Given the description of an element on the screen output the (x, y) to click on. 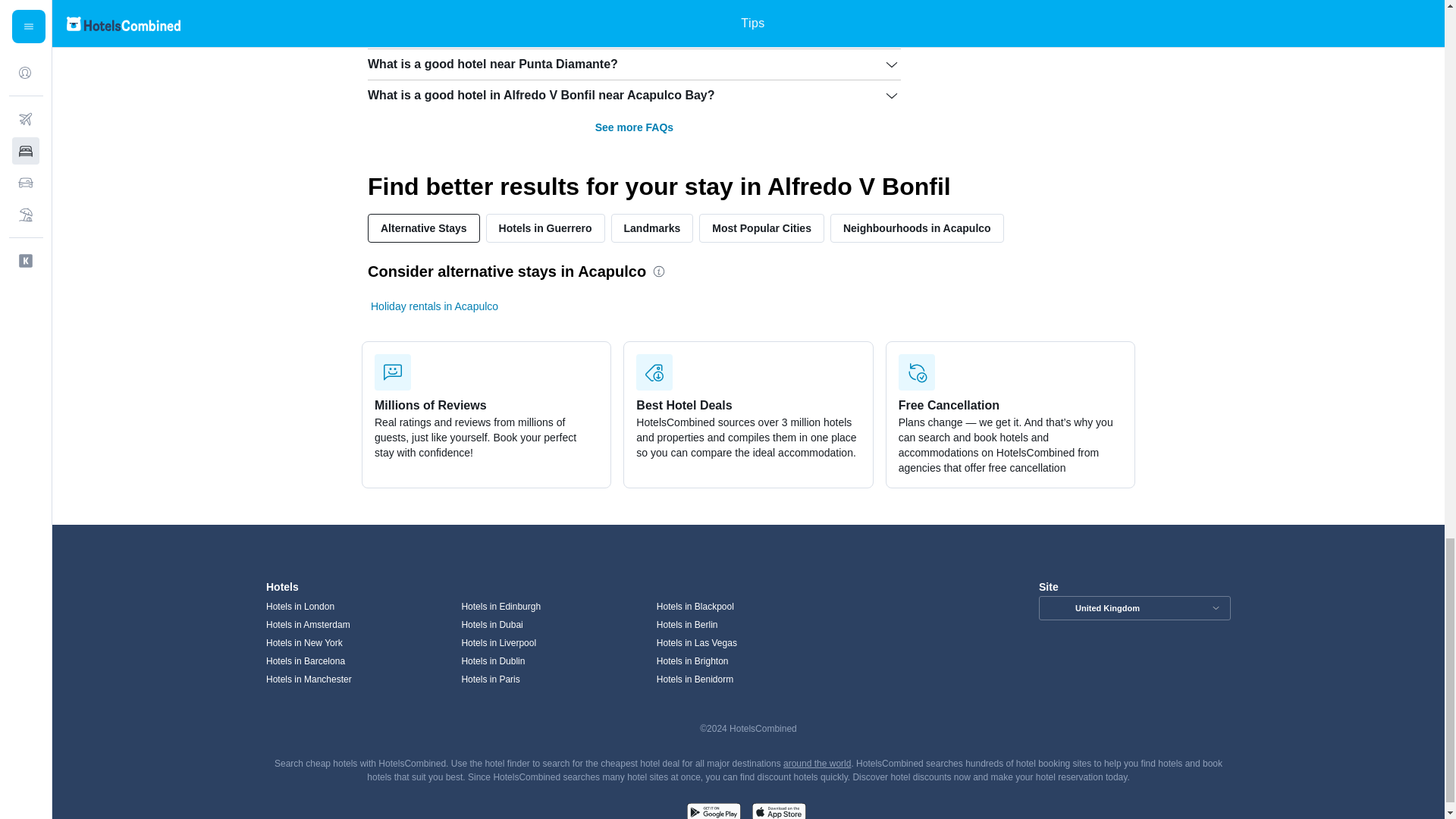
Download on the App Store (778, 809)
Holiday rentals in Acapulco (434, 305)
Neighbourhoods in Acapulco (916, 227)
Landmarks (652, 227)
Alternative Stays (424, 227)
Hotels in Guerrero (545, 227)
Most Popular Cities (761, 227)
Get it on Google Play (713, 809)
